Given the description of an element on the screen output the (x, y) to click on. 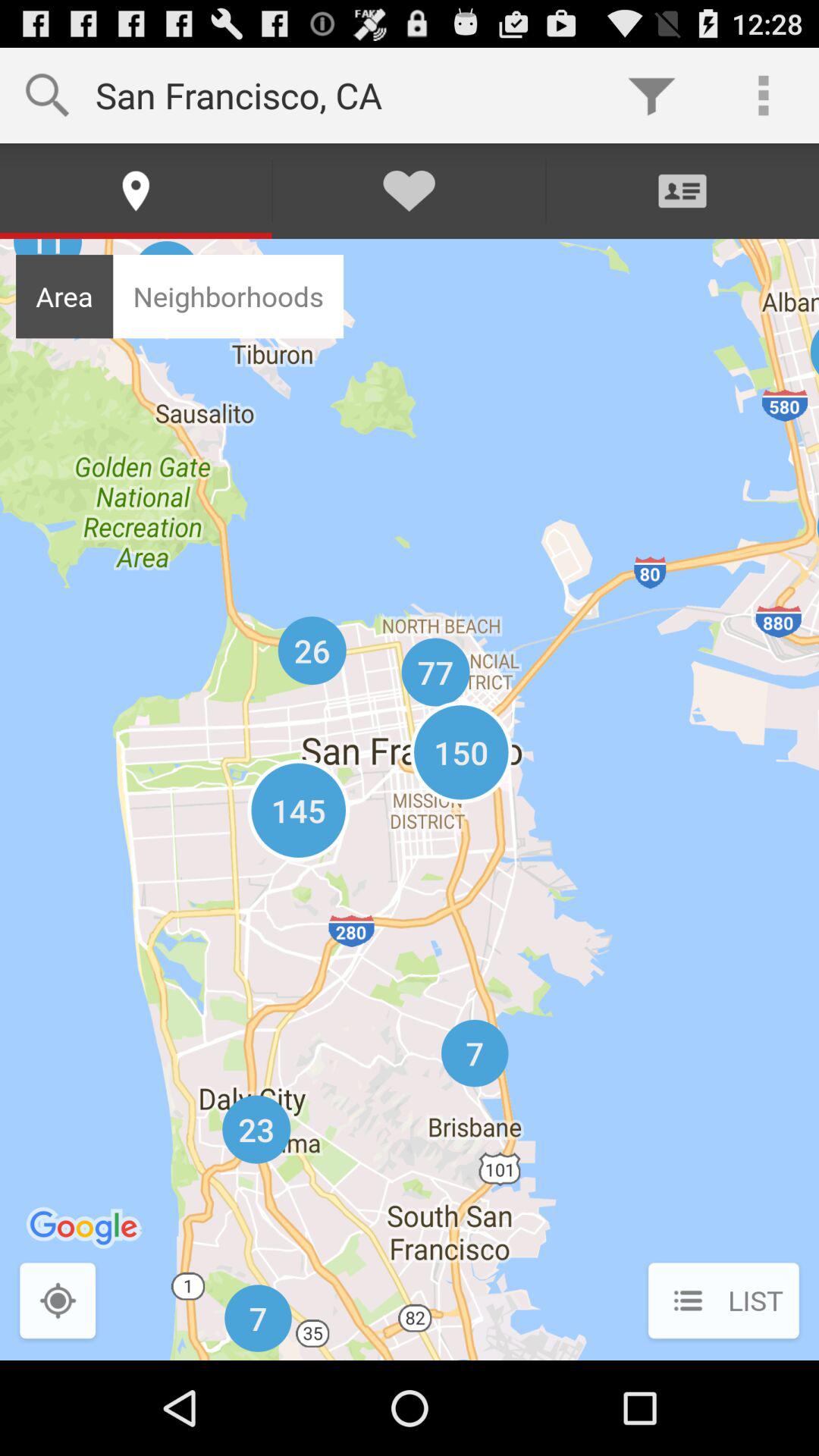
current location (57, 1302)
